Given the description of an element on the screen output the (x, y) to click on. 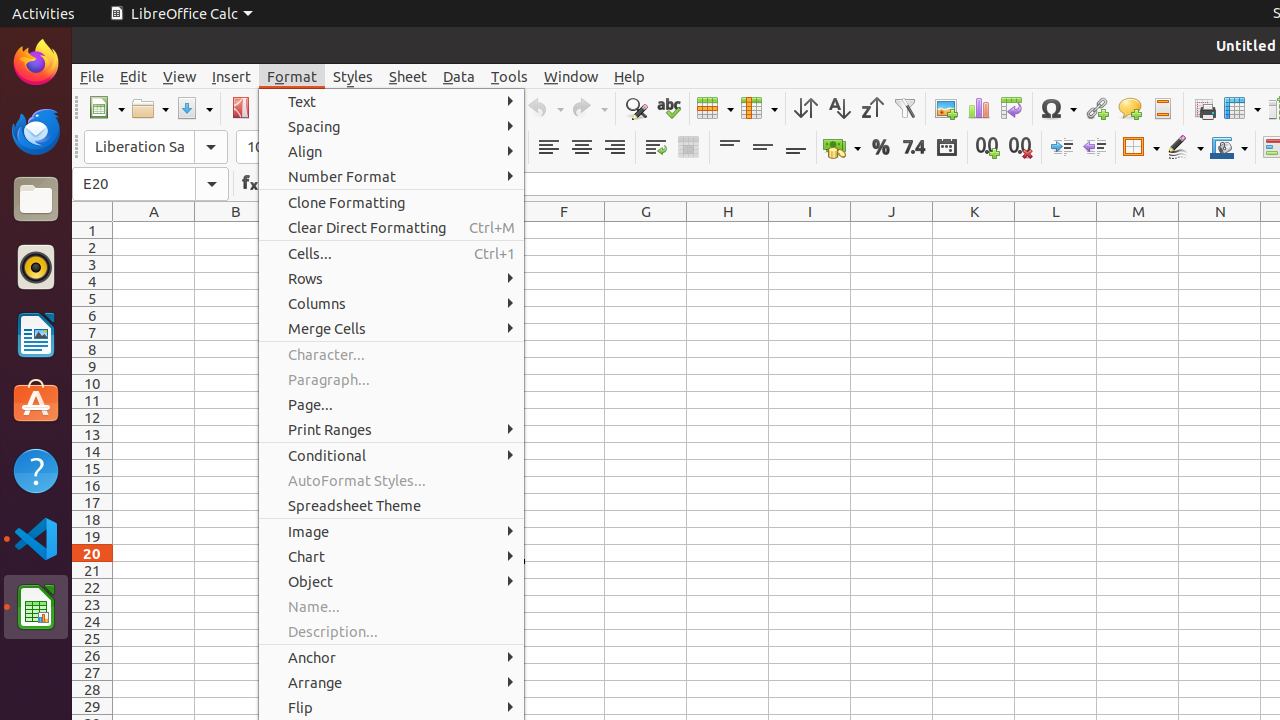
H1 Element type: table-cell (728, 230)
Align Top Element type: push-button (729, 147)
Number Format Element type: menu (391, 176)
New Element type: push-button (106, 108)
Name Box Element type: combo-box (150, 184)
